Given the description of an element on the screen output the (x, y) to click on. 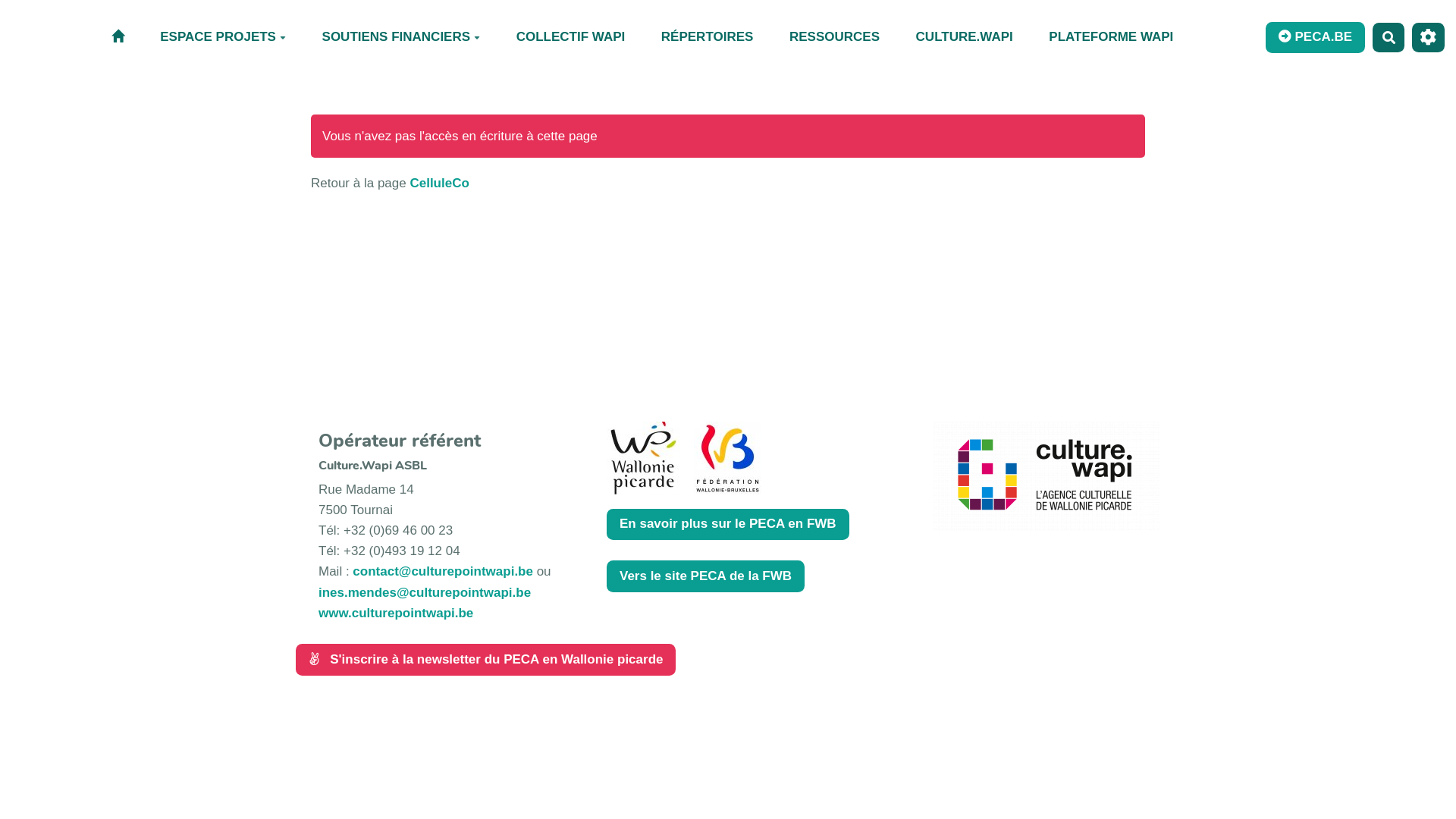
COLLECTIF WAPI Element type: text (570, 37)
PLATEFORME WAPI Element type: text (1111, 37)
CelluleCo Element type: text (438, 182)
PECA.BE Element type: text (1315, 37)
ESPACE PROJETS Element type: text (222, 37)
ines.mendes@culturepointwapi.be Element type: text (424, 592)
Vers le site PECA de la FWB Element type: text (705, 575)
contact@culturepointwapi.be Element type: text (442, 571)
RESSOURCES Element type: text (834, 37)
www.culturepointwapi.be Element type: text (395, 612)
CULTURE.WAPI Element type: text (964, 37)
SOUTIENS FINANCIERS Element type: text (401, 37)
Rechercher Element type: text (1388, 37)
En savoir plus sur le PECA en FWB Element type: text (727, 523)
